Given the description of an element on the screen output the (x, y) to click on. 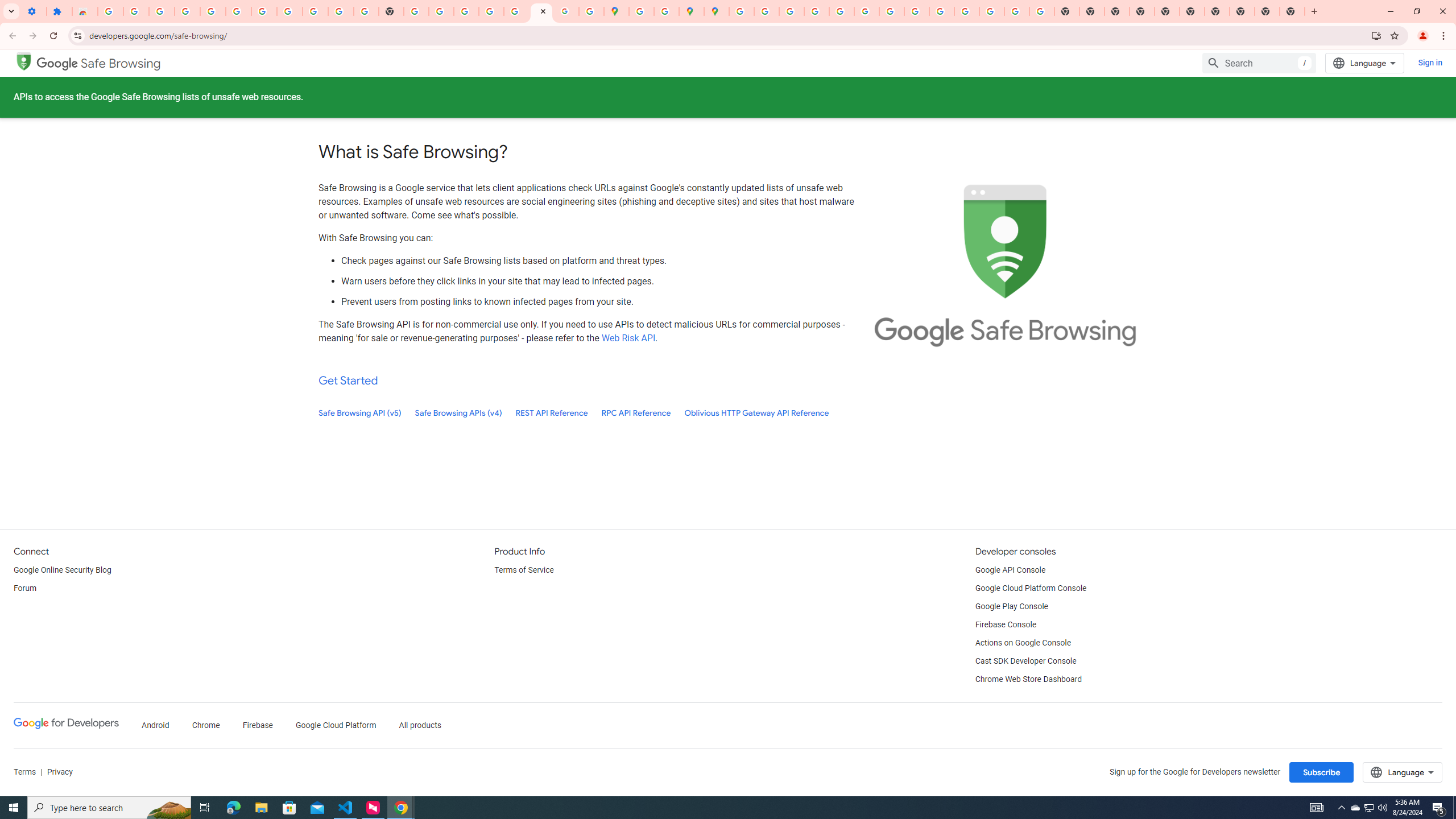
Safe Browsing APIs (v4) (458, 412)
New Tab (1141, 11)
Chrome Web Store Dashboard (1028, 679)
Privacy Help Center - Policies Help (816, 11)
Web Risk API (628, 337)
Cast SDK Developer Console (1025, 661)
Sign in - Google Accounts (110, 11)
